Given the description of an element on the screen output the (x, y) to click on. 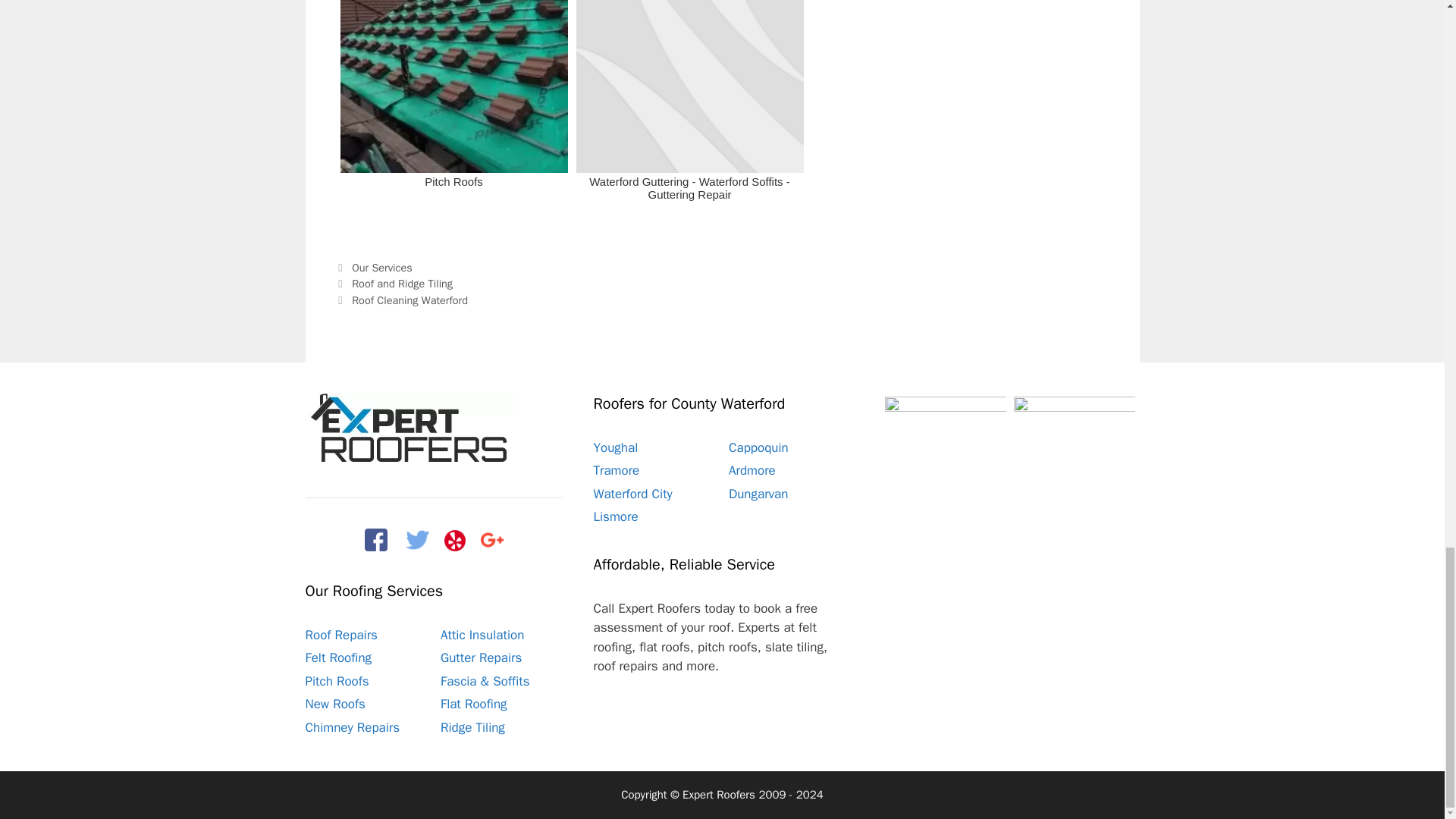
Next (400, 300)
Previous (393, 283)
